Given the description of an element on the screen output the (x, y) to click on. 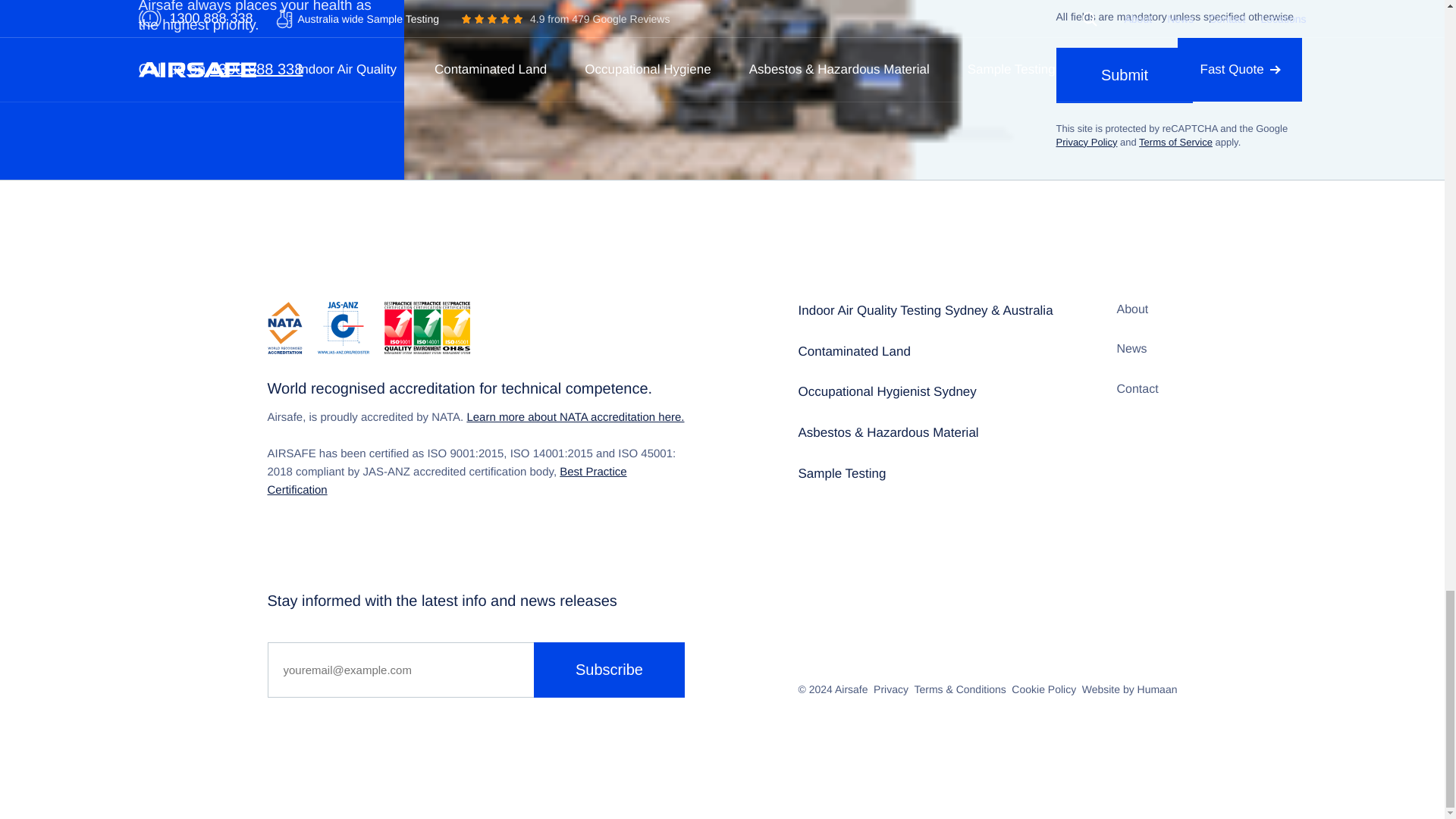
Cookie Policy (1043, 689)
Copyright Airsafe (850, 689)
Terms and Conditions (960, 689)
Privacy statement (890, 689)
